Given the description of an element on the screen output the (x, y) to click on. 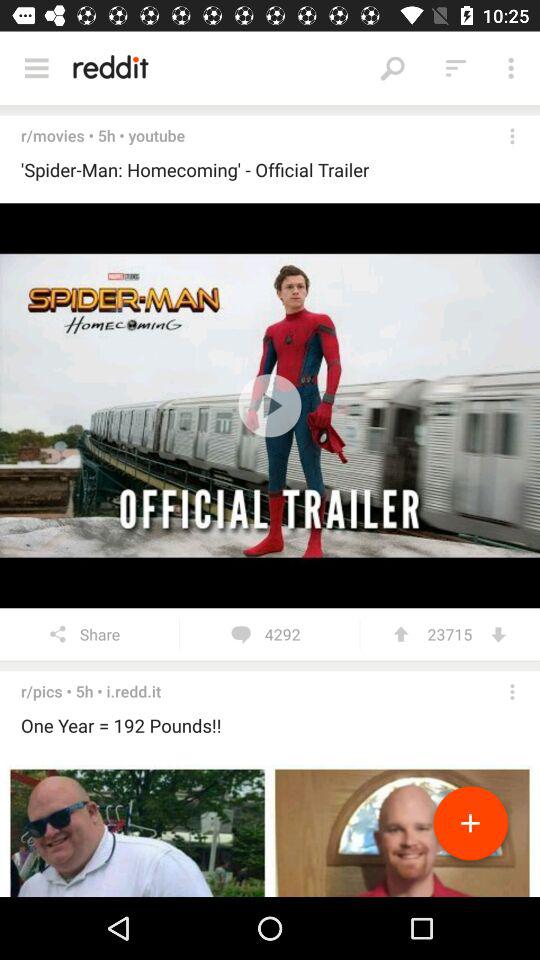
show menu (36, 68)
